Given the description of an element on the screen output the (x, y) to click on. 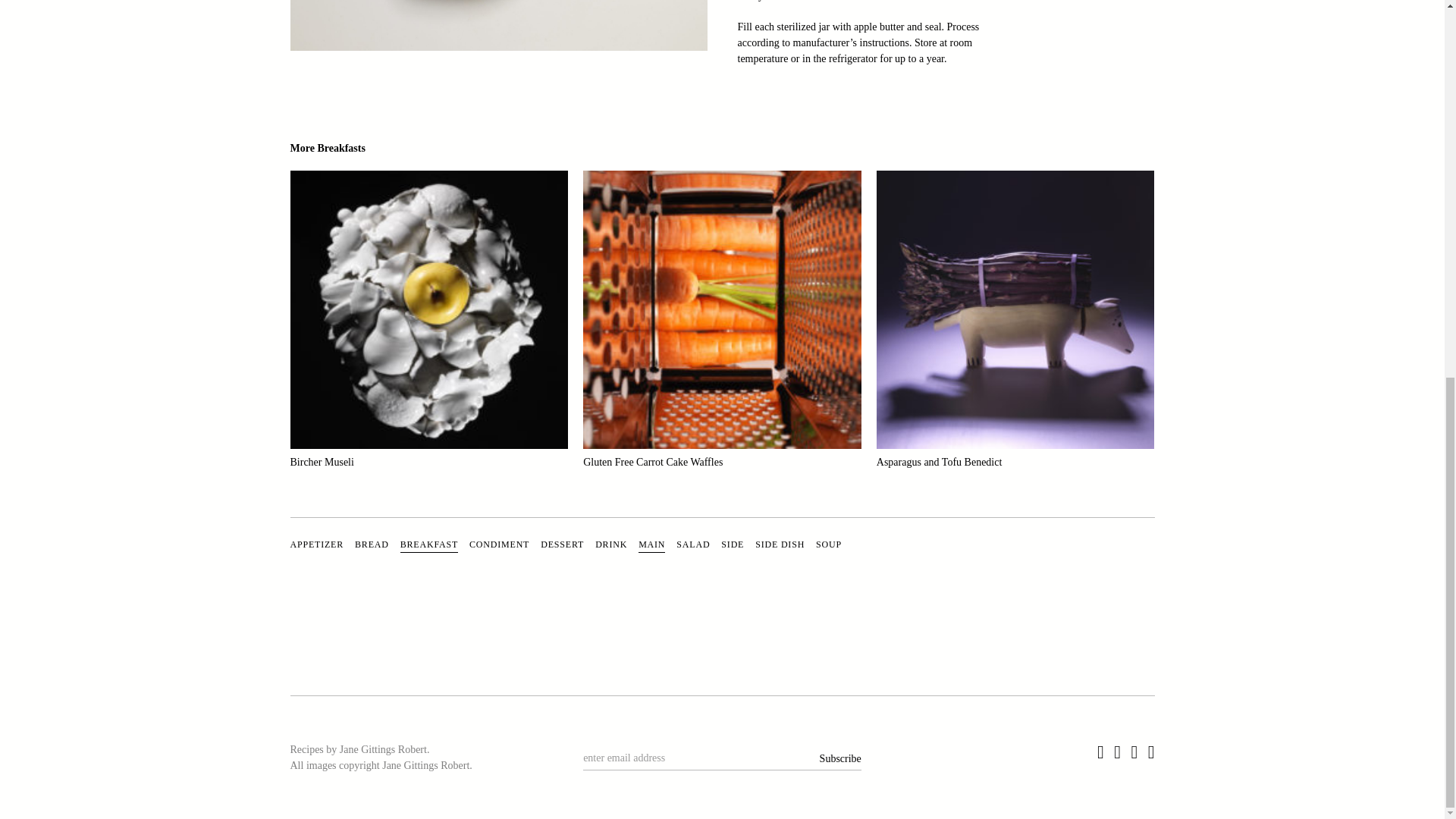
Subscribe (828, 755)
BREAKFAST (429, 545)
SOUP (828, 545)
Bircher Museli (428, 324)
APPETIZER (316, 545)
DRINK (611, 545)
Subscribe (828, 755)
DESSERT (561, 545)
Asparagus and Tofu Benedict (1015, 324)
SIDE (732, 545)
Gluten Free Carrot Cake Waffles (722, 324)
Asparagus and Tofu Benedict (1015, 324)
SALAD (693, 545)
CONDIMENT (498, 545)
SIDE DISH (780, 545)
